Given the description of an element on the screen output the (x, y) to click on. 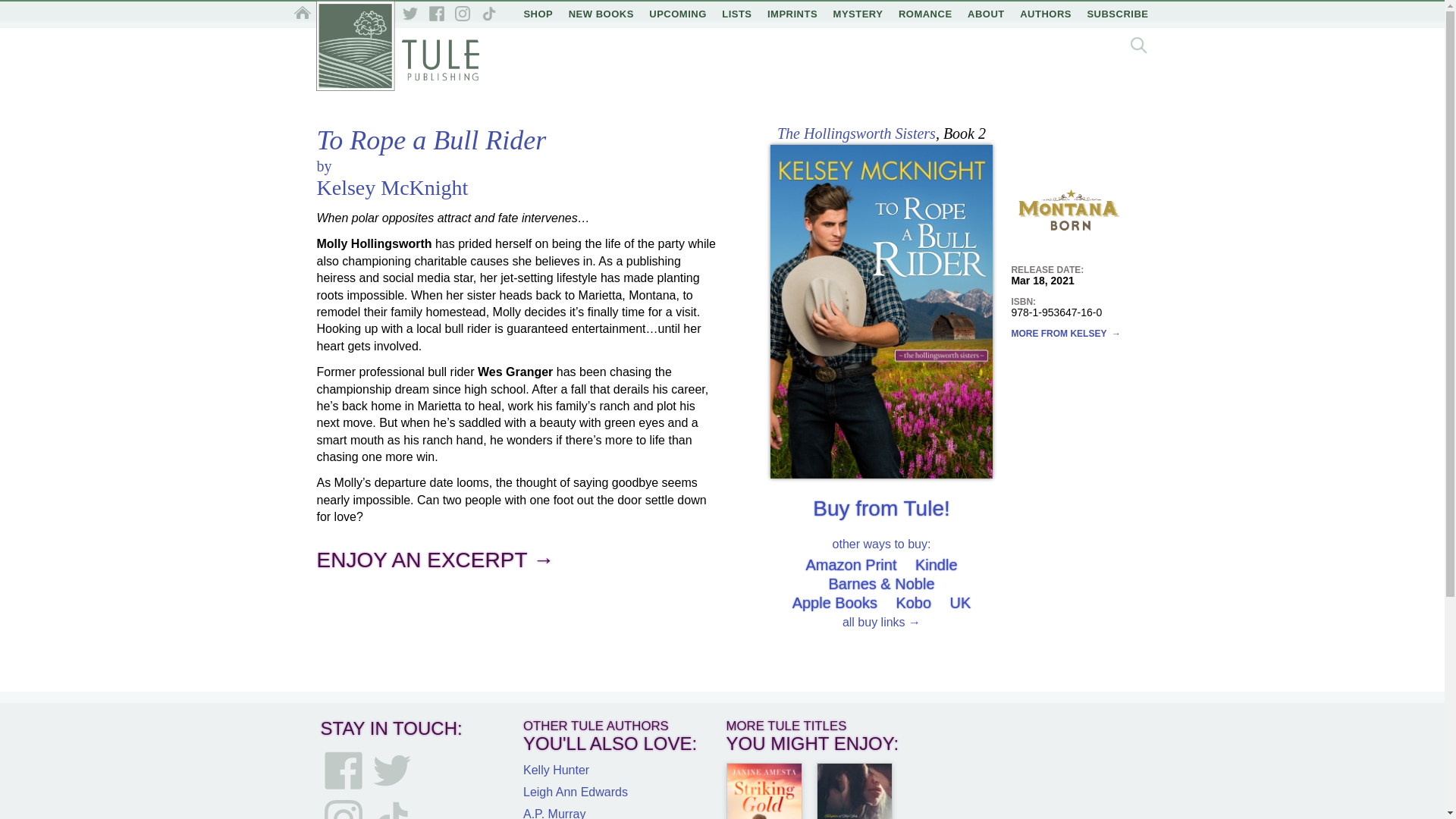
Kobo (913, 602)
AUTHORS (1045, 13)
NEW BOOKS (601, 13)
SHOP (537, 13)
Kelly Hunter (555, 769)
Facebook (343, 770)
Kindle (936, 564)
UK (960, 602)
Buy from Tule! (881, 508)
Twitter (410, 13)
